Given the description of an element on the screen output the (x, y) to click on. 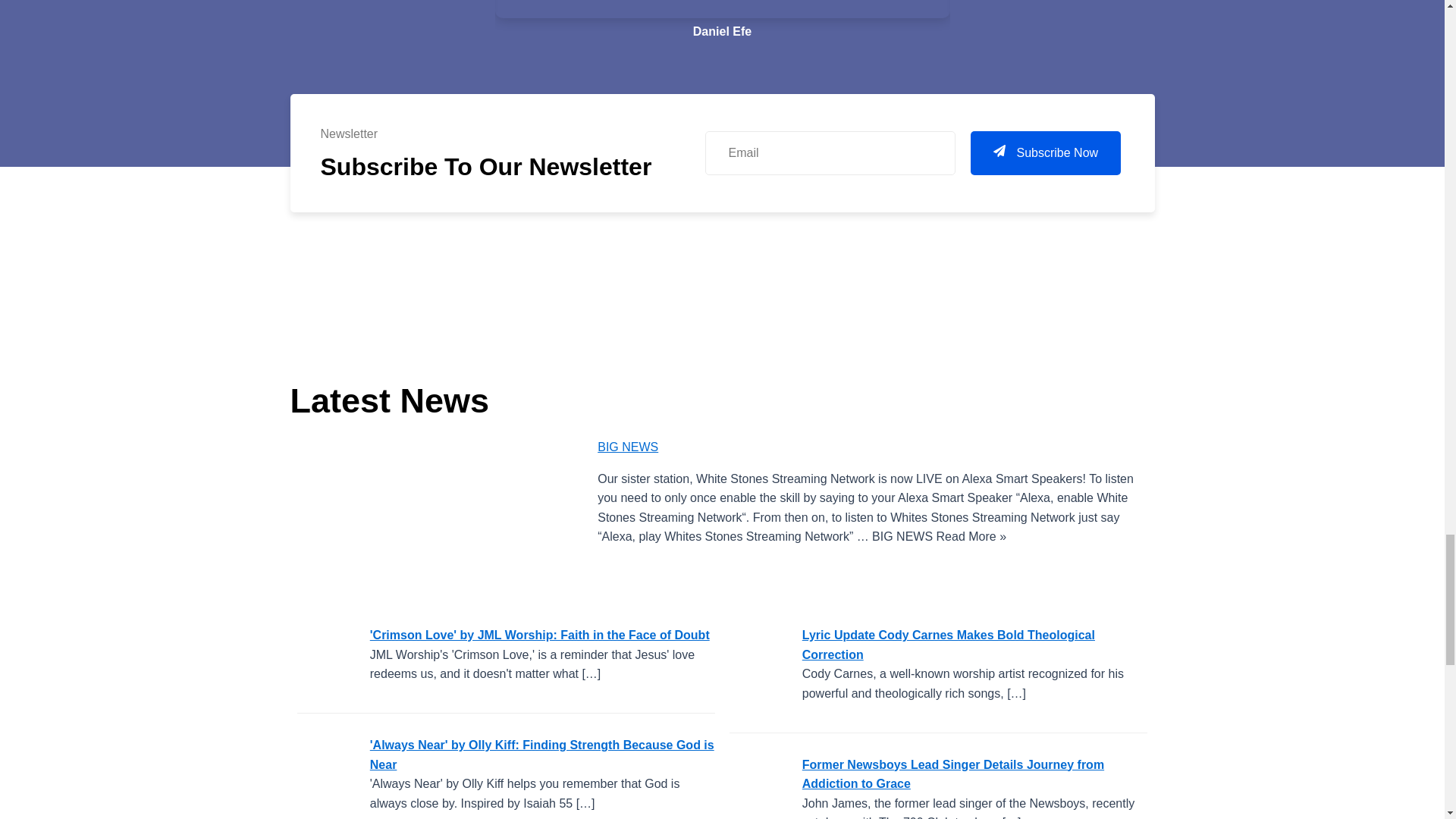
Lyric Update Cody Carnes Makes Bold Theological Correction (759, 659)
'Crimson Love' by JML Worship: Faith in the Face of Doubt (327, 659)
